Given the description of an element on the screen output the (x, y) to click on. 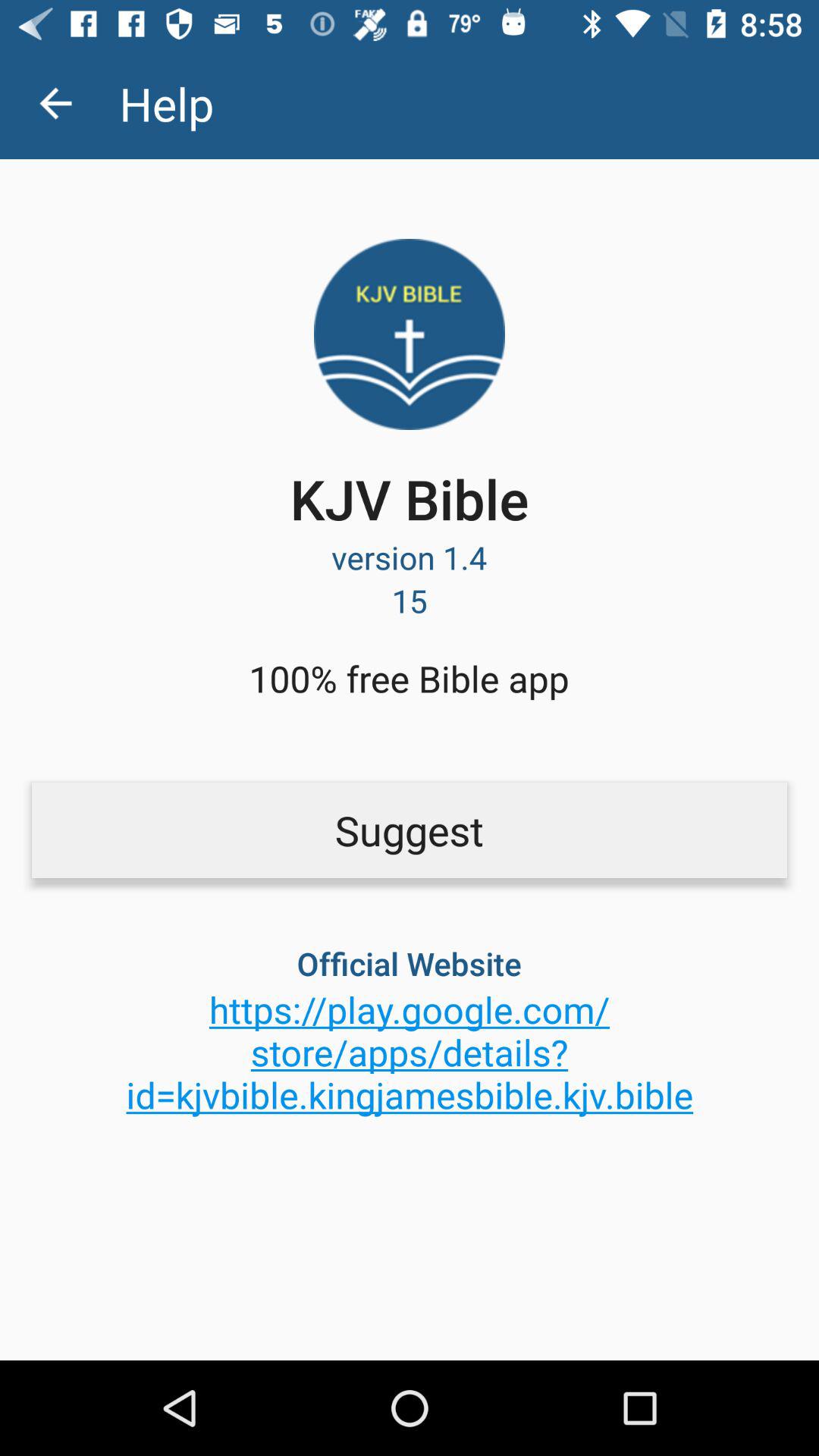
open the icon next to help app (55, 103)
